Given the description of an element on the screen output the (x, y) to click on. 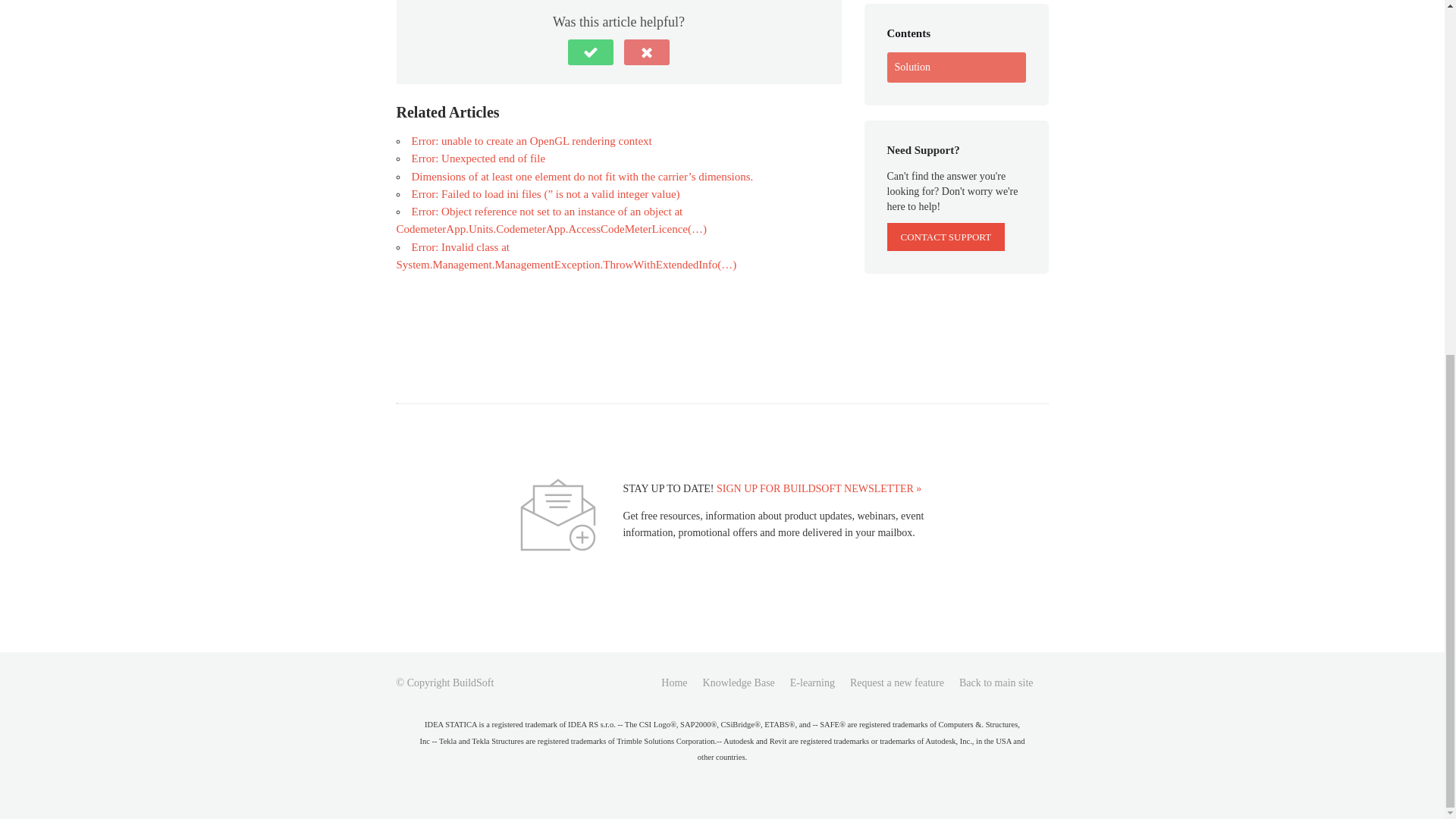
Home (674, 682)
Request a new feature (896, 682)
Back to main site (996, 682)
E-learning (812, 682)
Error: Unexpected end of file (477, 158)
Knowledge Base (738, 682)
Error: unable to create an OpenGL rendering context (530, 141)
